Given the description of an element on the screen output the (x, y) to click on. 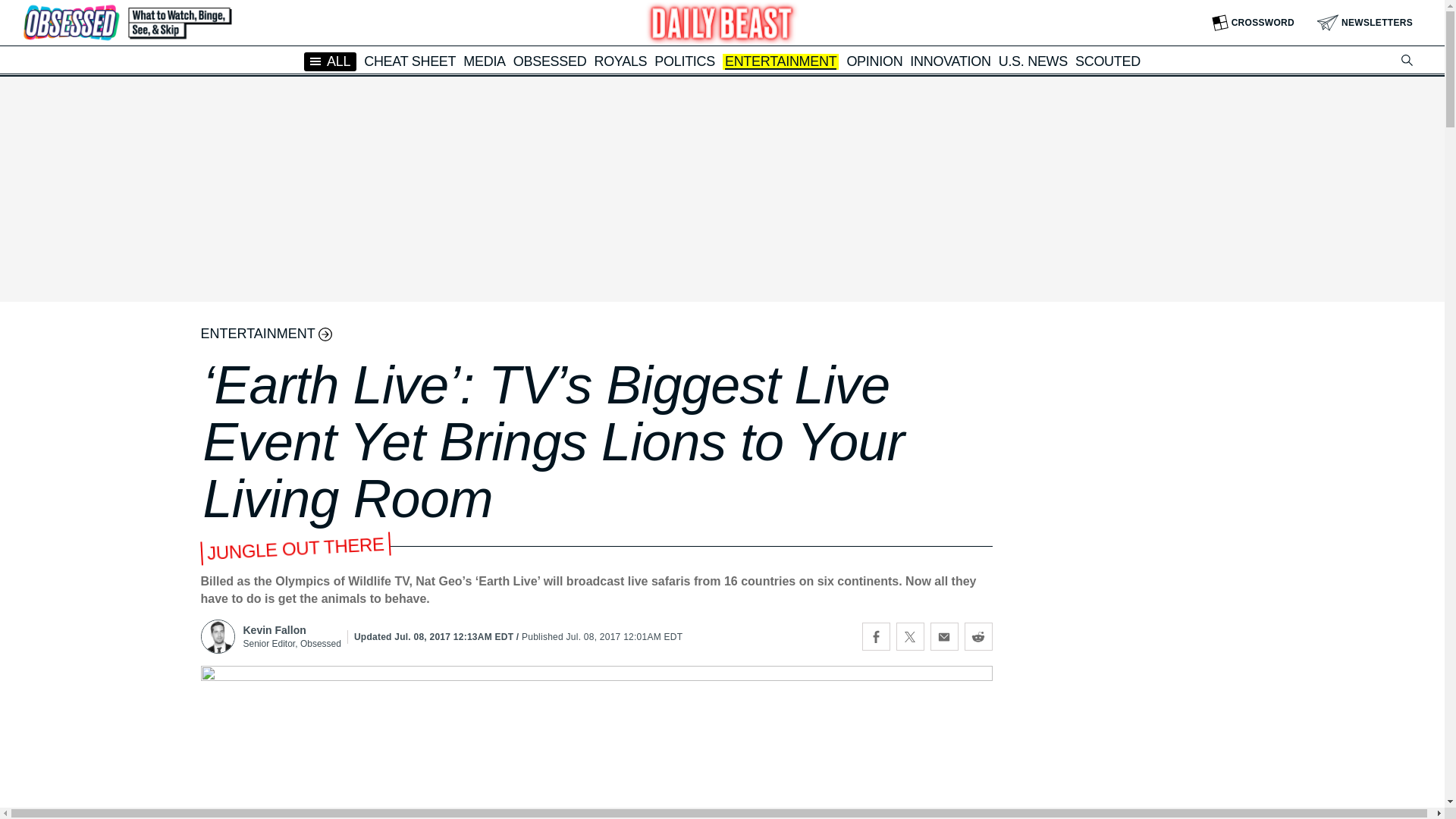
INNOVATION (950, 60)
OBSESSED (549, 60)
ROYALS (620, 60)
CHEAT SHEET (409, 60)
U.S. NEWS (1032, 60)
OPINION (873, 60)
ALL (330, 60)
CROSSWORD (1252, 22)
SCOUTED (1107, 60)
NEWSLETTERS (1364, 22)
